Given the description of an element on the screen output the (x, y) to click on. 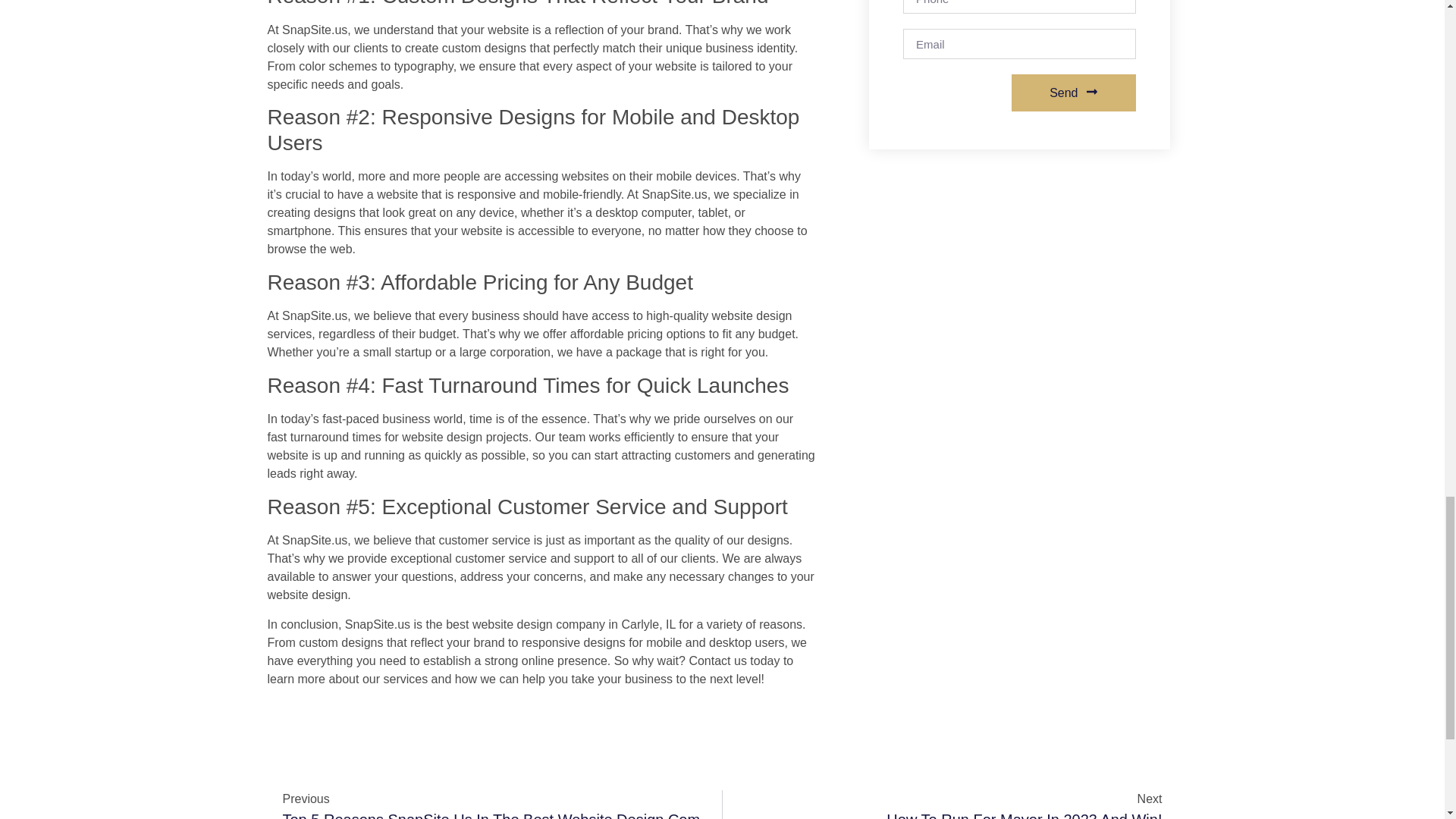
Send (949, 804)
